Given the description of an element on the screen output the (x, y) to click on. 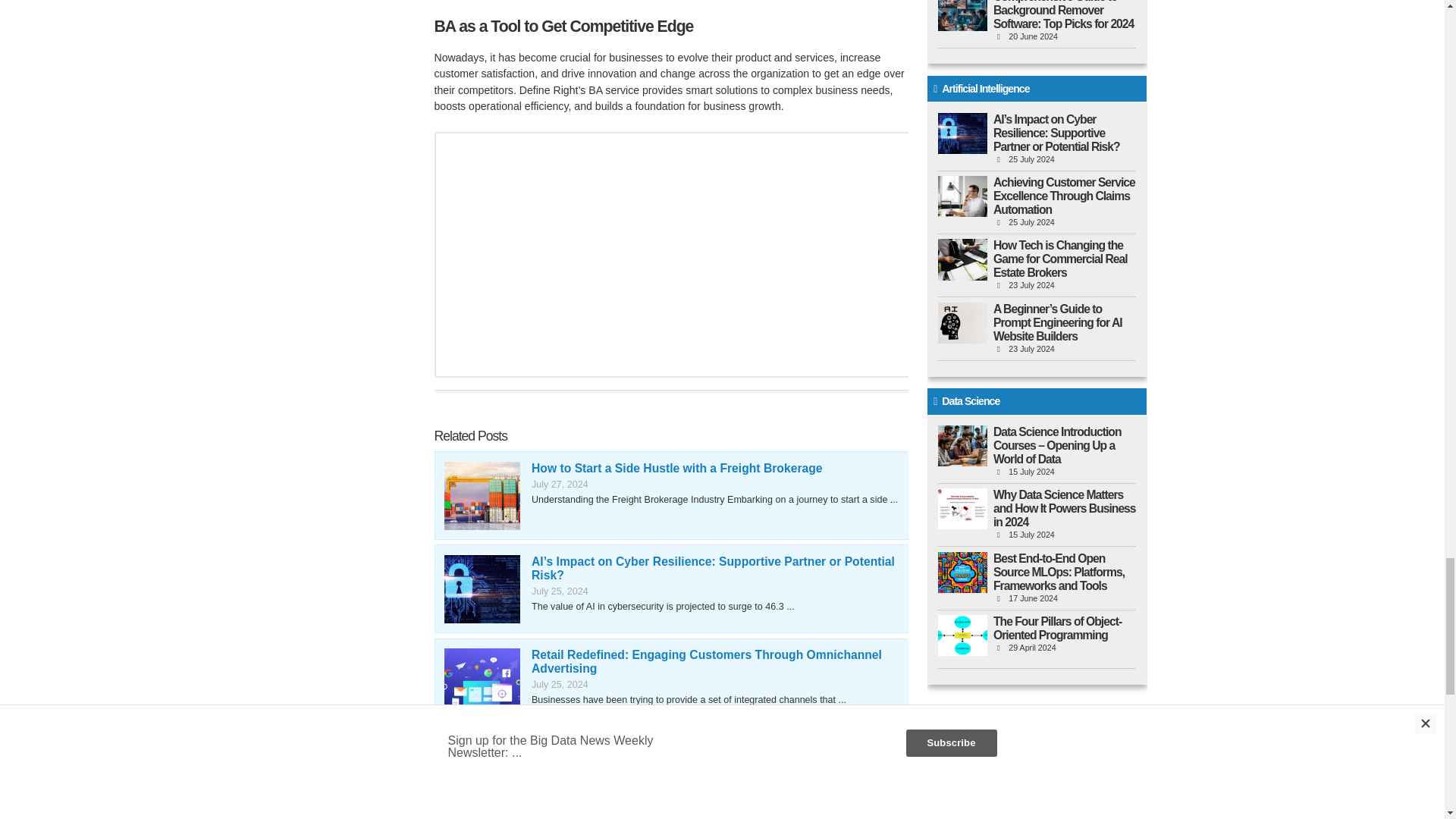
How to Start a Side Hustle with a Freight Brokerage (481, 495)
How to Start a Side Hustle with a Freight Brokerage (676, 468)
